Given the description of an element on the screen output the (x, y) to click on. 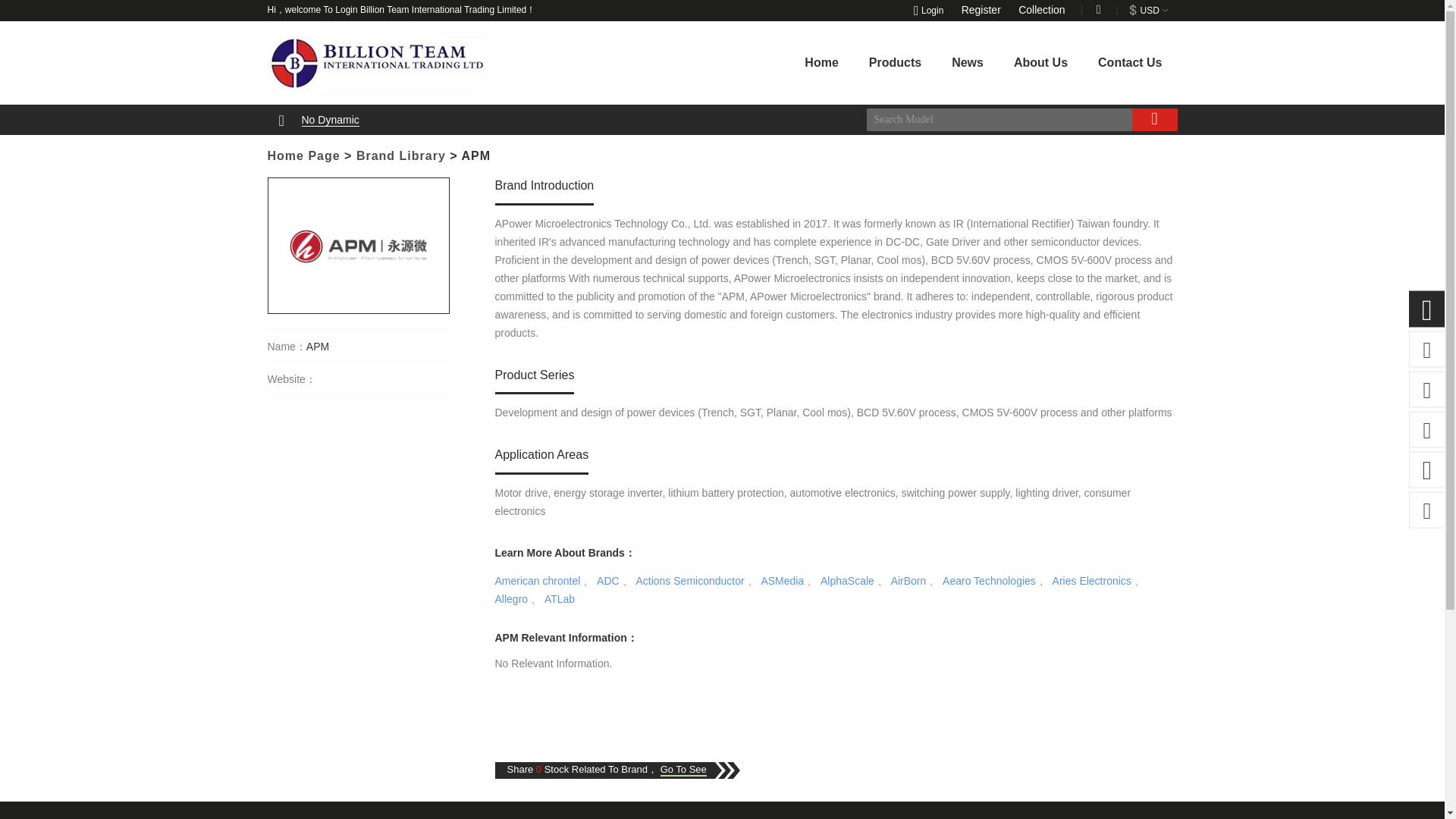
Allegro (511, 598)
Collection (1044, 9)
News (968, 62)
American chrontel (537, 580)
Go To See (683, 769)
Products (895, 62)
Aries Electronics (1091, 580)
ADC (608, 580)
AirBorn (908, 580)
Home (821, 62)
